Given the description of an element on the screen output the (x, y) to click on. 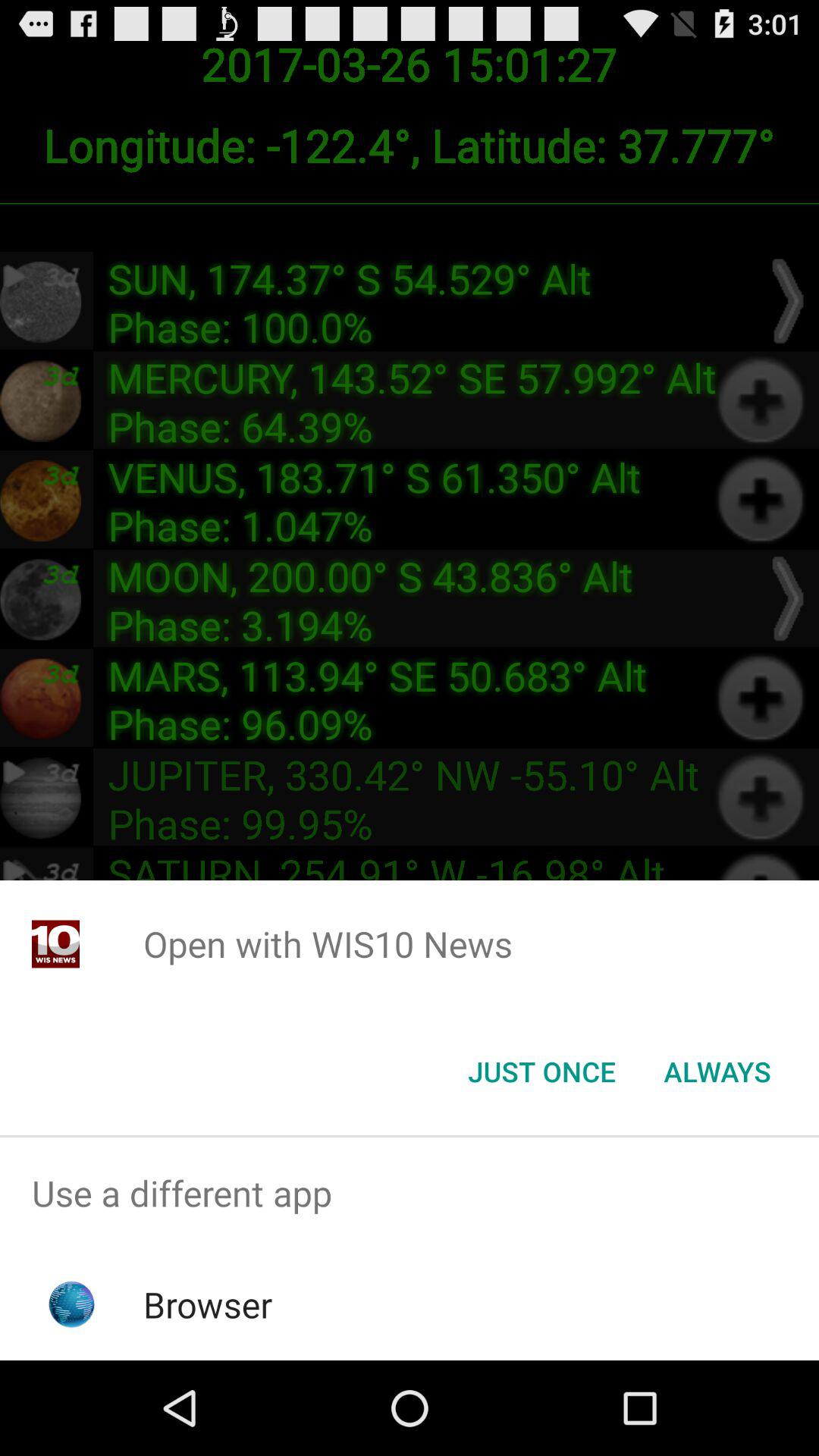
launch item to the right of just once button (717, 1071)
